Given the description of an element on the screen output the (x, y) to click on. 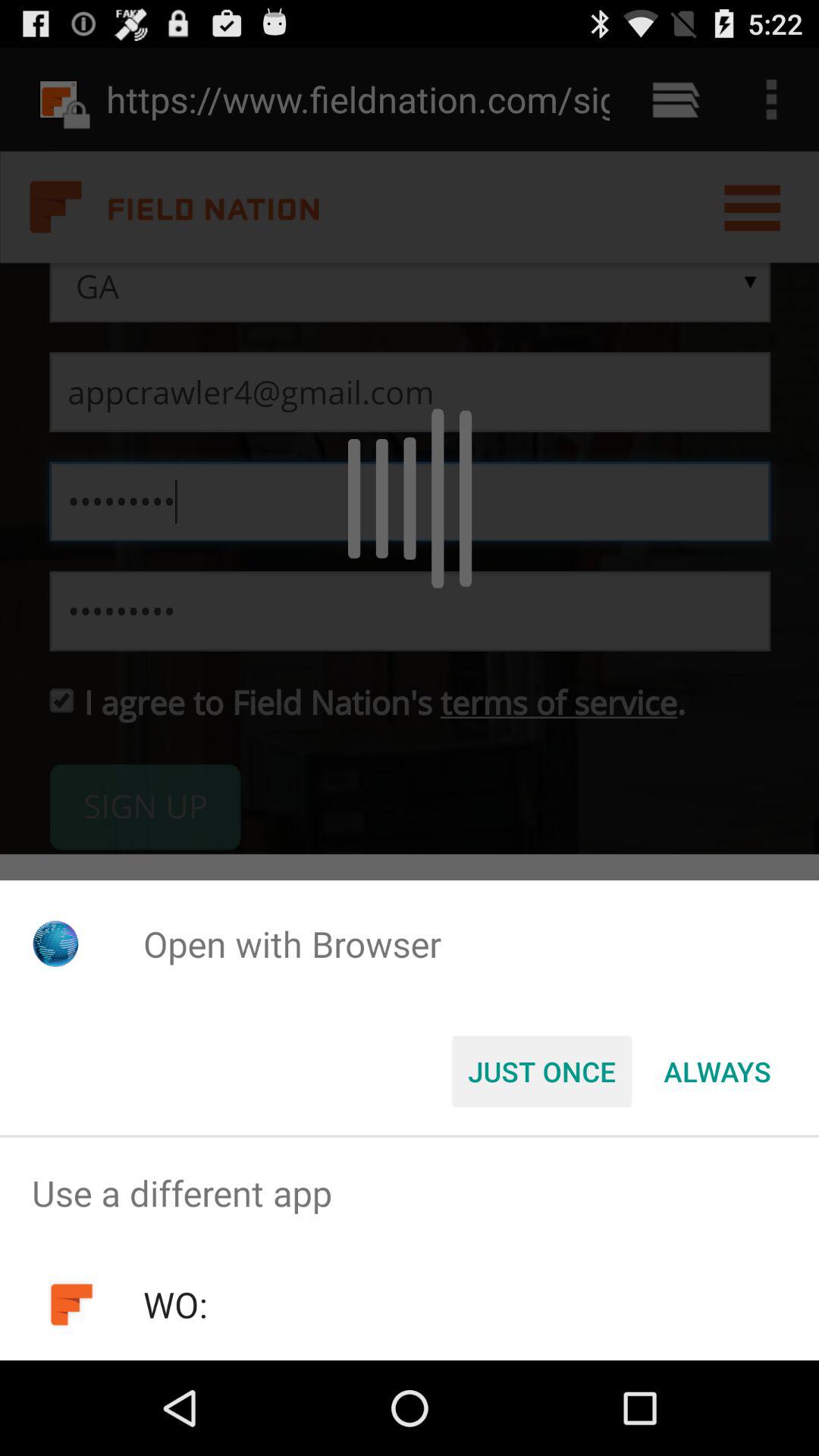
scroll until the wo: (175, 1304)
